Given the description of an element on the screen output the (x, y) to click on. 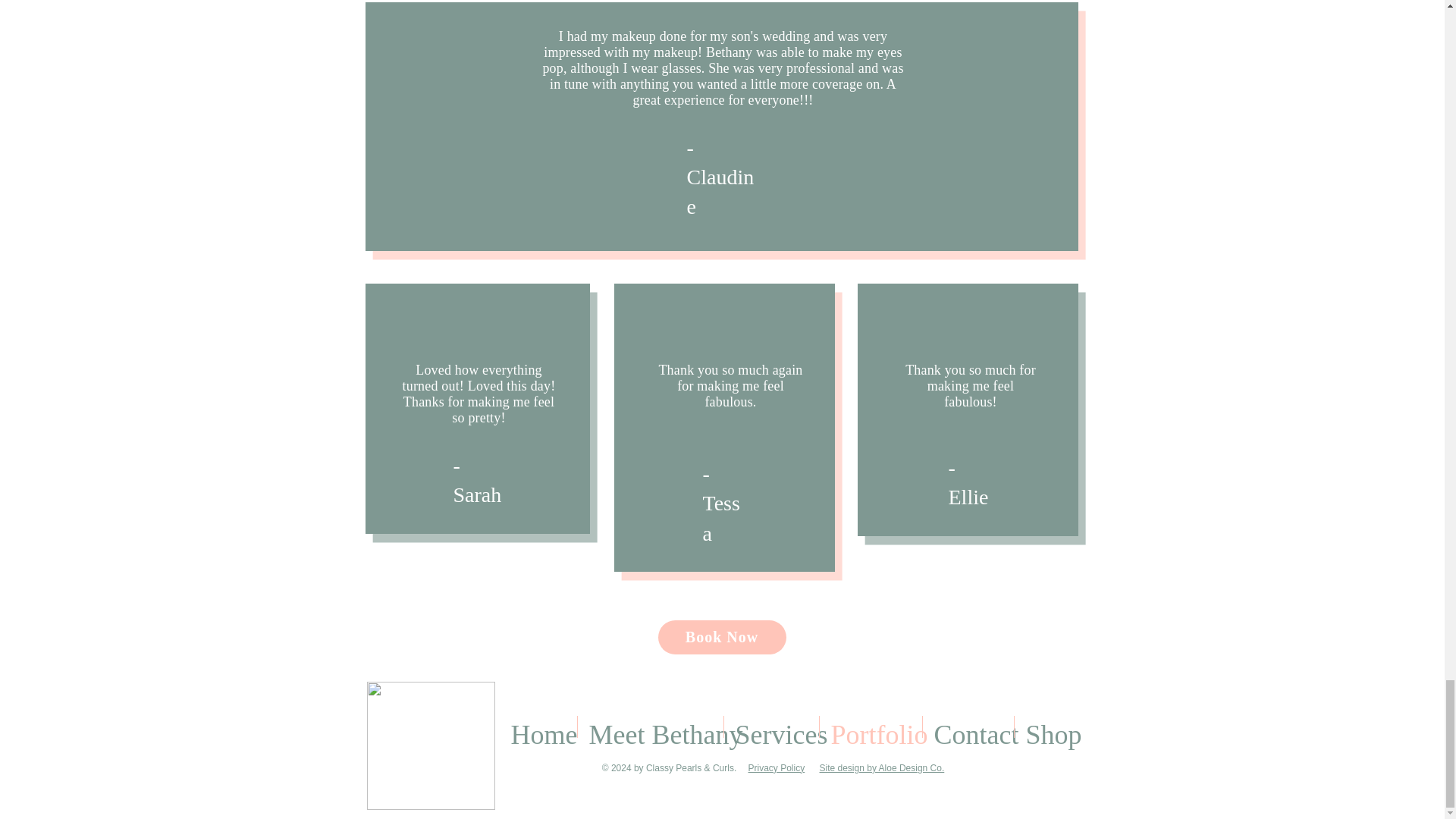
Shop (1050, 726)
Meet Bethany (650, 726)
Contact (967, 726)
Services (770, 726)
Home (537, 726)
Privacy Policy (776, 767)
Book Now (722, 636)
Site design by Aloe Design Co. (880, 767)
Portfolio (869, 726)
